Given the description of an element on the screen output the (x, y) to click on. 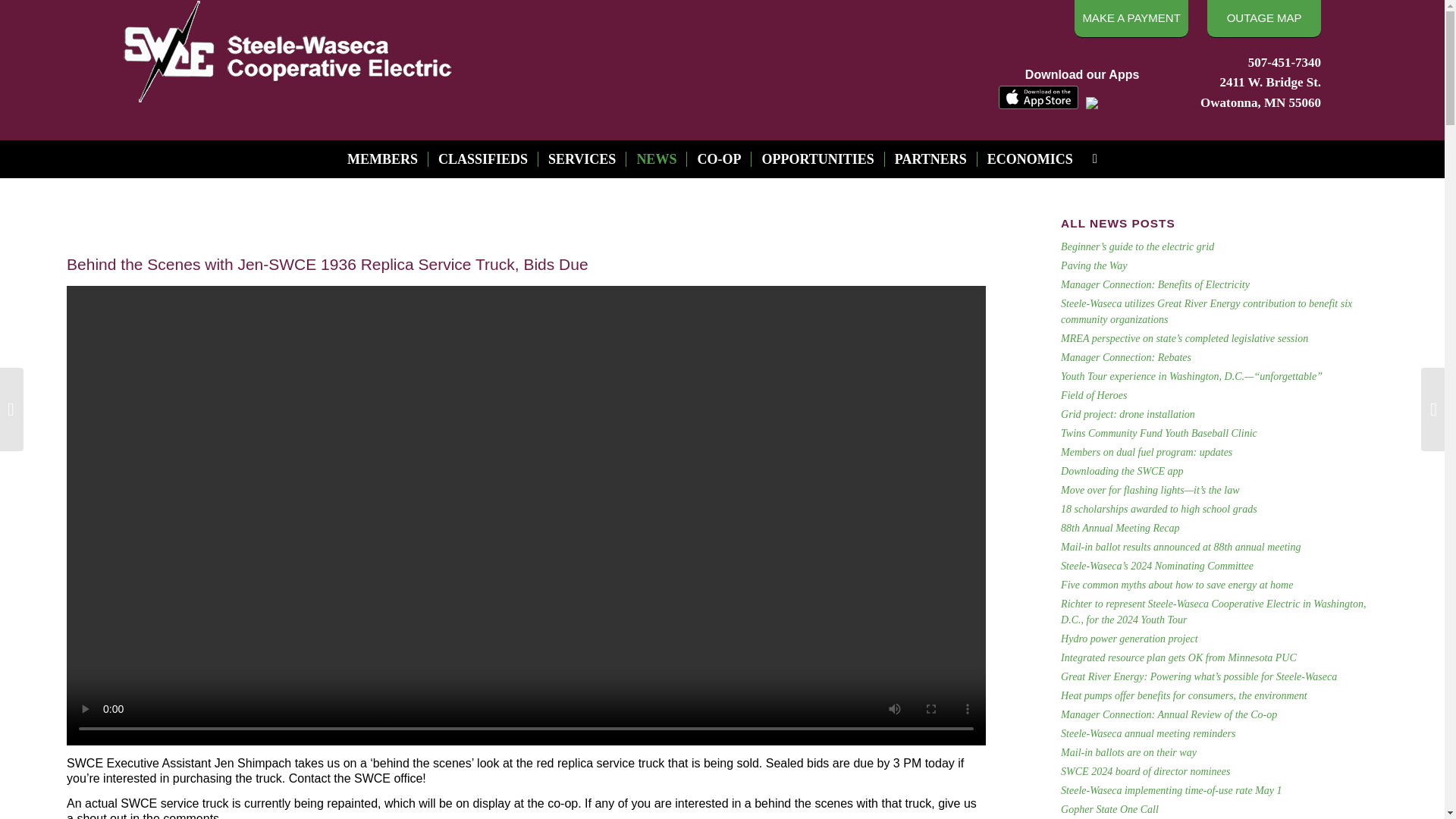
MEMBERS (382, 159)
CLASSIFIEDS (482, 159)
OPPORTUNITIES (817, 159)
MAKE A PAYMENT (1131, 18)
507-451-7340 (1283, 62)
PARTNERS (929, 159)
OUTAGE MAP (1263, 18)
NEWS (655, 159)
logo-larger (287, 51)
CO-OP (718, 159)
